Given the description of an element on the screen output the (x, y) to click on. 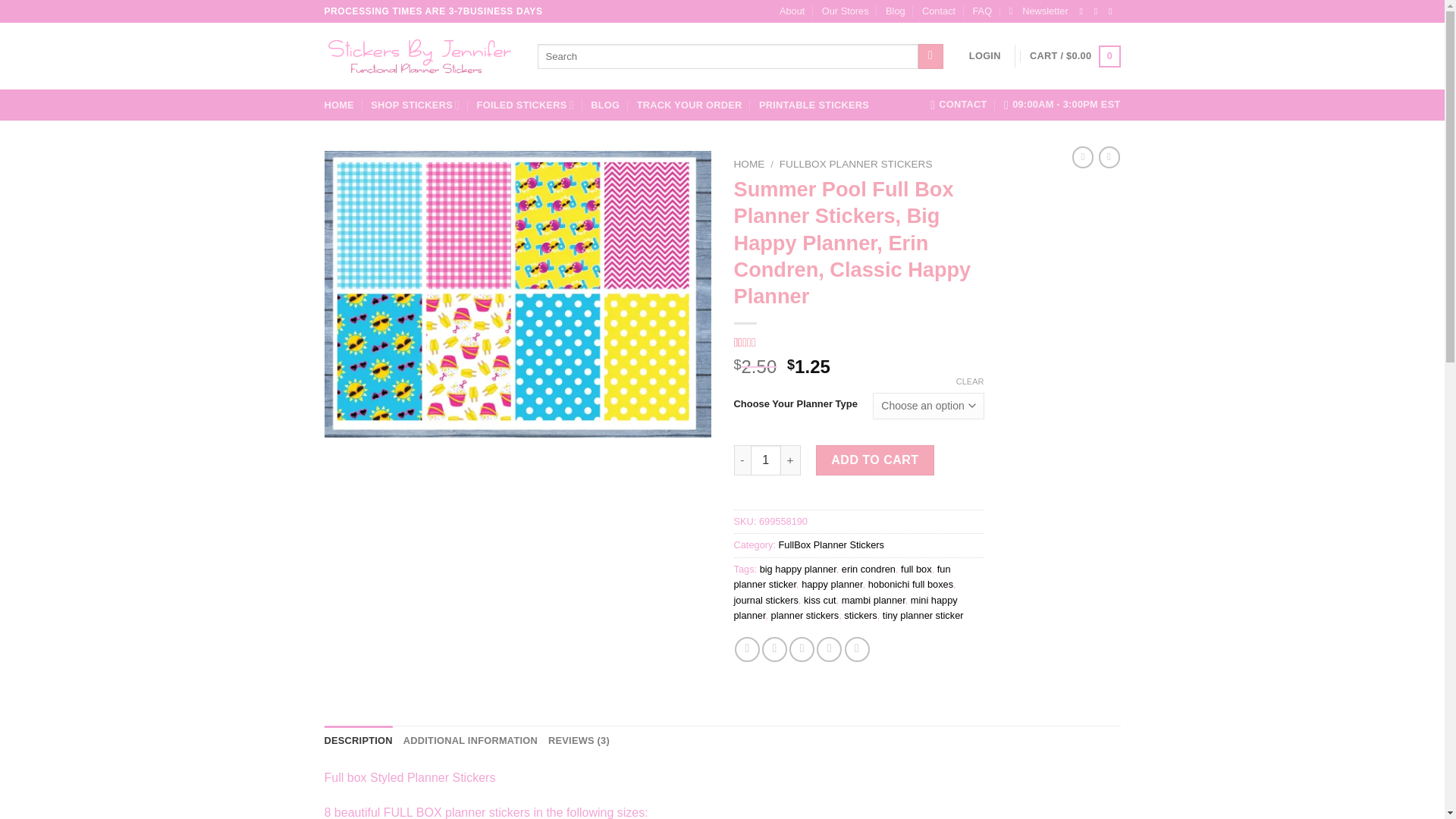
FOILED STICKERS (525, 104)
Share on Facebook (747, 649)
LOGIN (985, 55)
Newsletter (1038, 11)
1 (765, 460)
Stickers By Jennifer - Functional Planner Stickers (419, 56)
Sign up for Newsletter (1038, 11)
Search (930, 56)
Our Stores (845, 11)
About (791, 11)
Cart (1074, 56)
HOME (338, 104)
Contact (938, 11)
SHOP STICKERS (415, 104)
Login (985, 55)
